Given the description of an element on the screen output the (x, y) to click on. 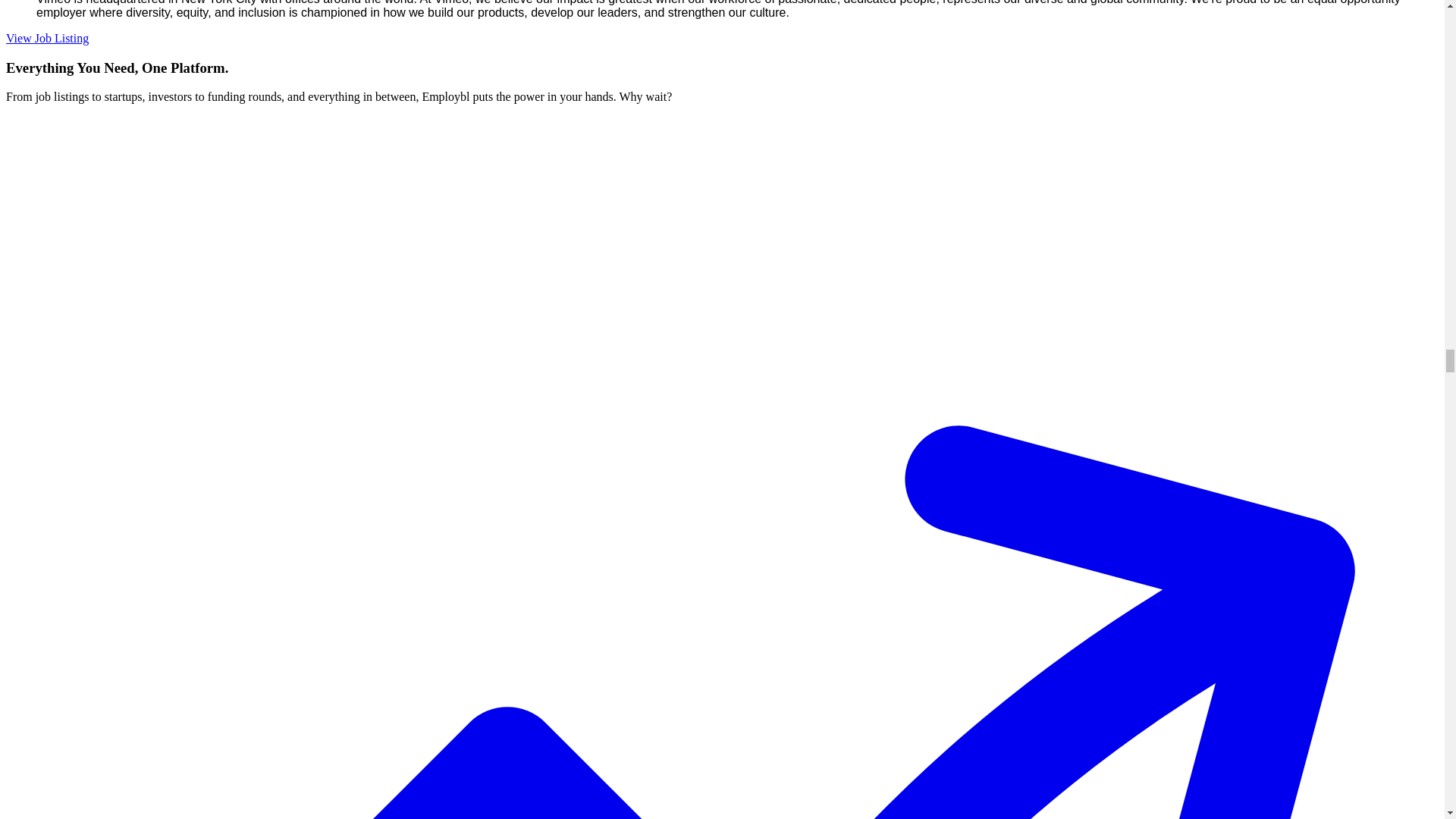
View Job Listing (46, 38)
